Given the description of an element on the screen output the (x, y) to click on. 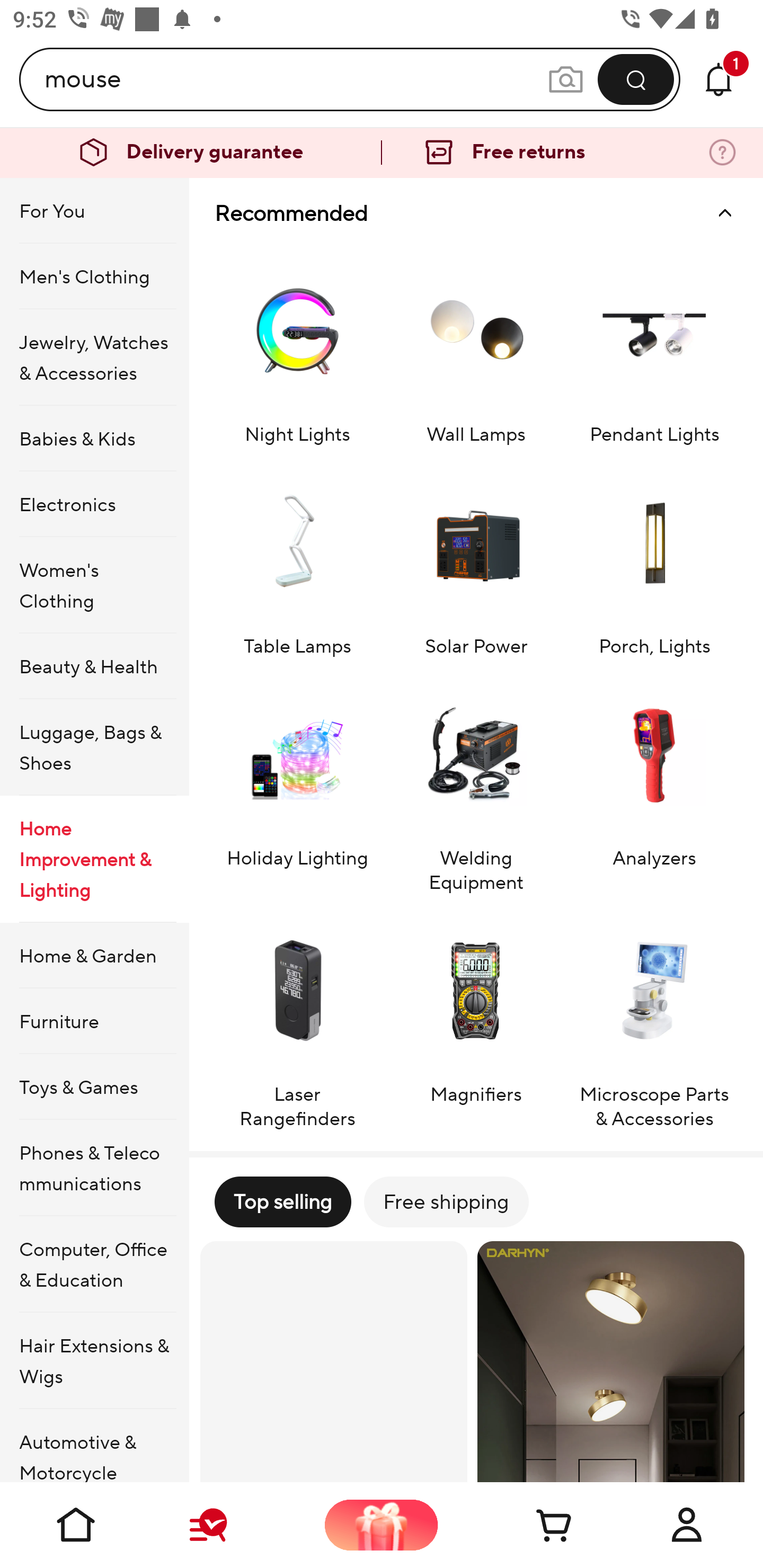
mouse Search query (295, 79)
Messages 1 (718, 79)
Delivery guarantee Free returns (381, 152)
For You (94, 210)
Recommended  (476, 212)
Men's Clothing (94, 275)
Night Lights (296, 346)
Wall Lamps (475, 346)
Pendant Lights (654, 346)
Jewelry, Watches & Accessories (94, 357)
Babies & Kids (94, 438)
Table Lamps (296, 560)
Solar Power (475, 560)
Porch, Lights (654, 560)
Electronics (94, 504)
Women's Clothing (94, 585)
Beauty & Health (94, 666)
Holiday Lighting (296, 783)
Welding Equipment (475, 783)
Analyzers (654, 783)
Luggage, Bags & Shoes (94, 746)
Home Improvement & Lighting (94, 858)
Laser Rangefinders (296, 1019)
Magnifiers (475, 1019)
Microscope Parts & Accessories (654, 1019)
Home & Garden (94, 955)
Furniture (94, 1020)
Toys & Games (94, 1086)
Phones & Telecommunications (94, 1167)
Top selling (282, 1201)
Free shipping (445, 1201)
Computer, Office & Education (94, 1264)
Hair Extensions & Wigs (94, 1360)
Automotive & Motorcycle (94, 1445)
Home (76, 1524)
Cart (533, 1524)
Account (686, 1524)
